Given the description of an element on the screen output the (x, y) to click on. 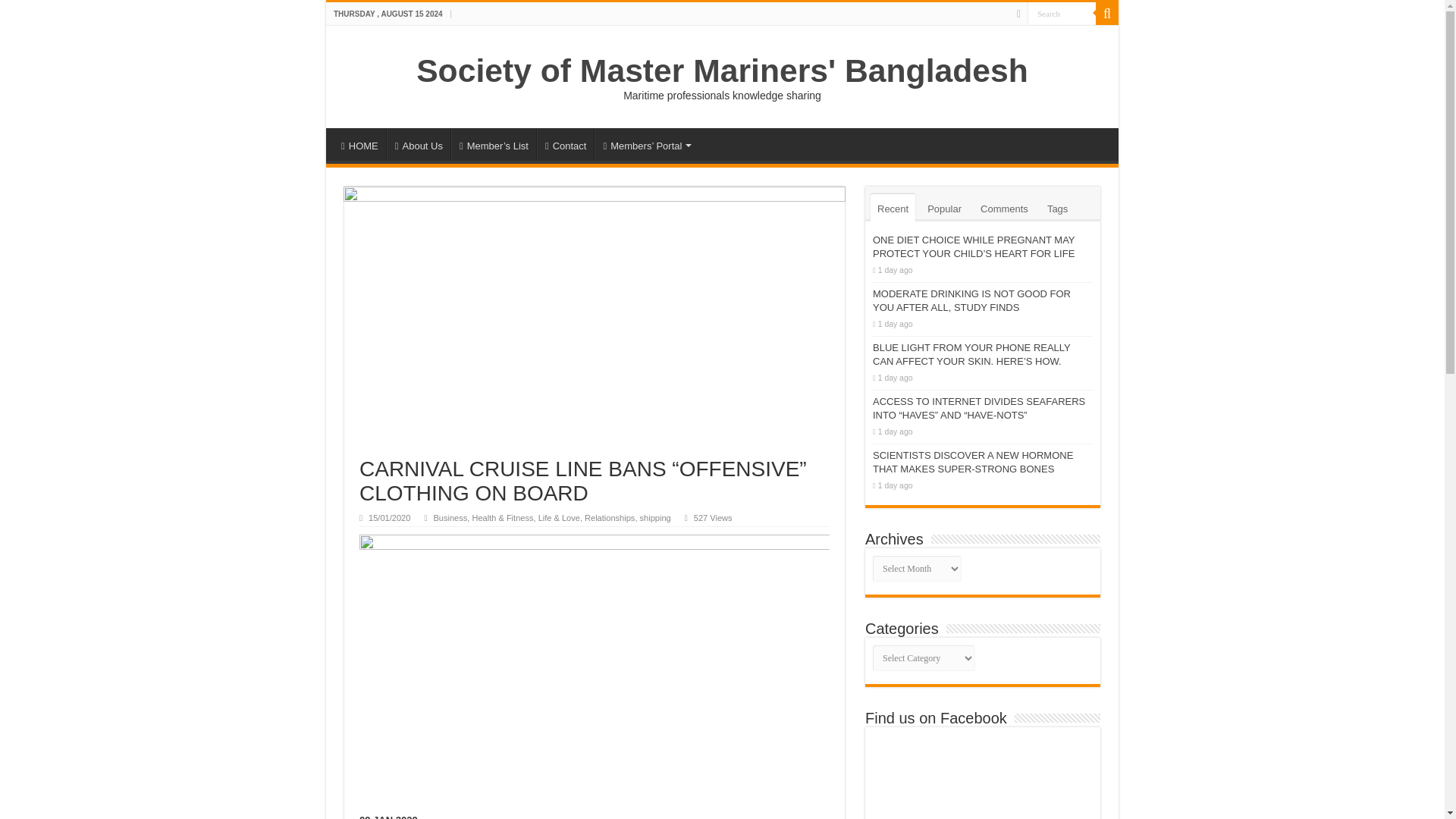
shipping (655, 517)
Recent (892, 207)
Search (1061, 13)
Search (1107, 13)
Business (449, 517)
Popular (944, 207)
Society of Master Mariners' Bangladesh (721, 70)
HOME (359, 143)
Relationships (609, 517)
Tags (1057, 207)
